Given the description of an element on the screen output the (x, y) to click on. 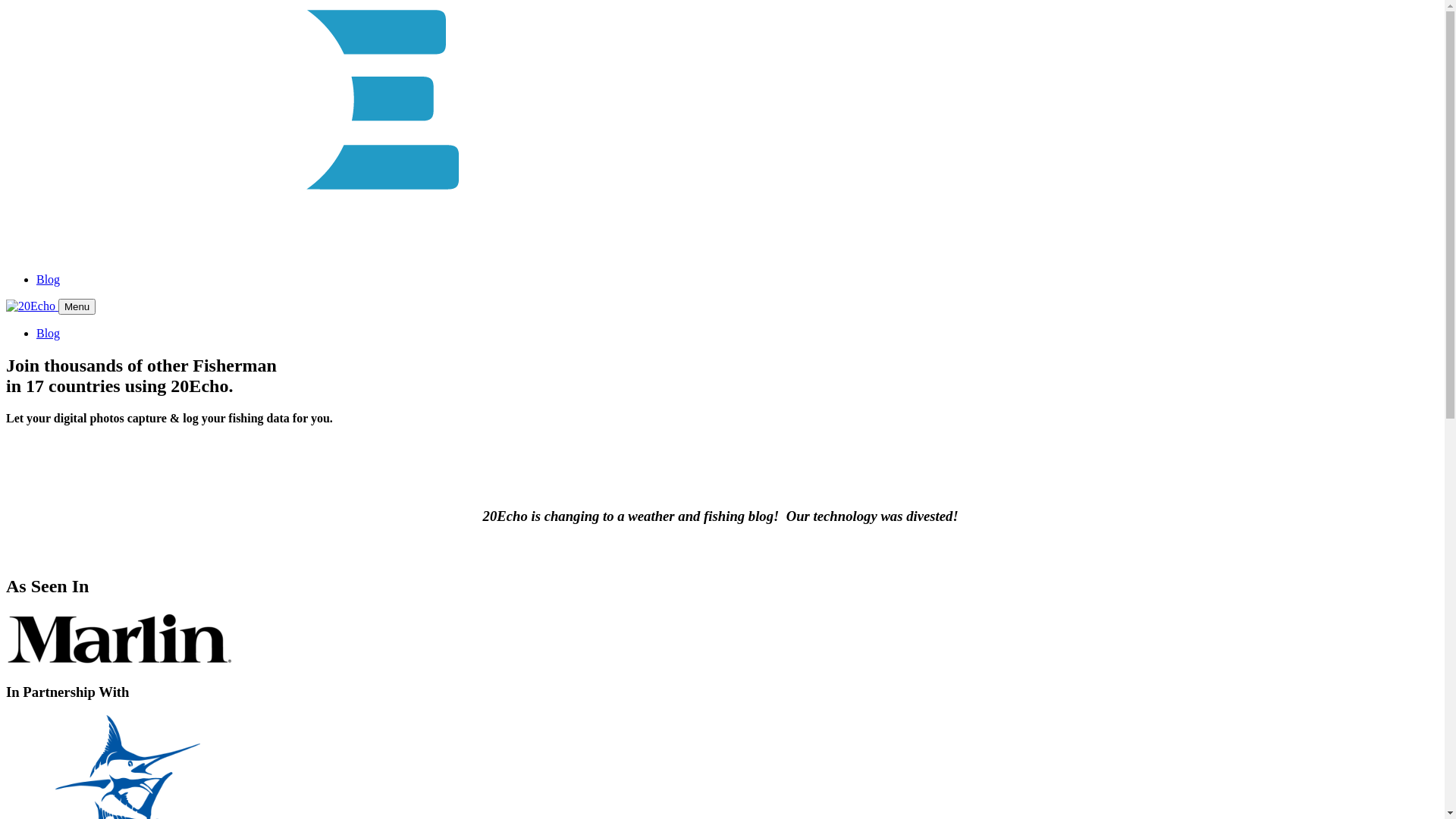
No Credit Card Required Element type: text (72, 443)
Blog Element type: text (47, 279)
Blog Element type: text (47, 332)
Menu Element type: text (76, 306)
